Given the description of an element on the screen output the (x, y) to click on. 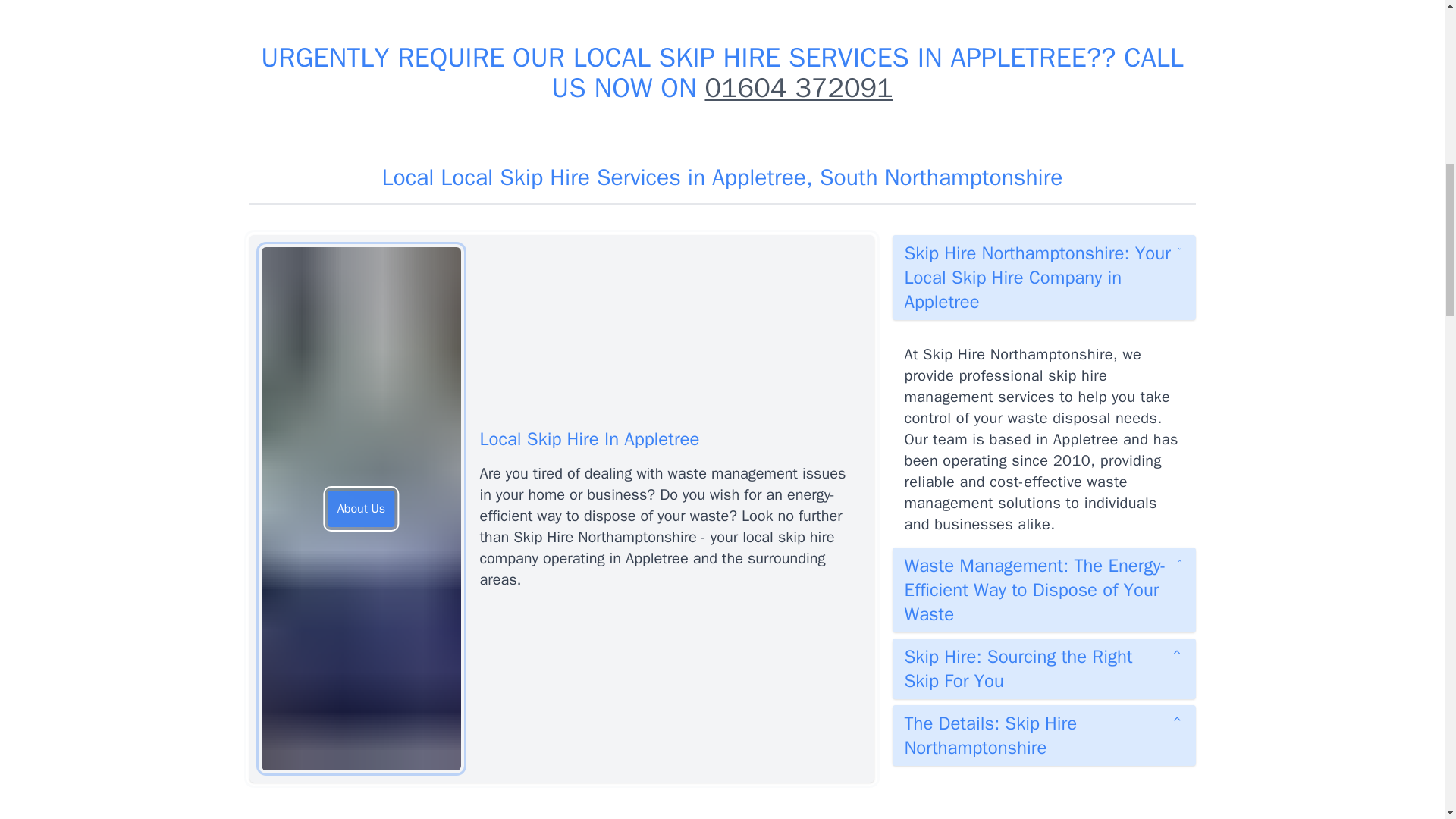
Skip Hire: Sourcing the Right Skip For You (1043, 668)
01604 372091 (798, 87)
The Details: Skip Hire Northamptonshire (1043, 735)
About Us (361, 508)
